Given the description of an element on the screen output the (x, y) to click on. 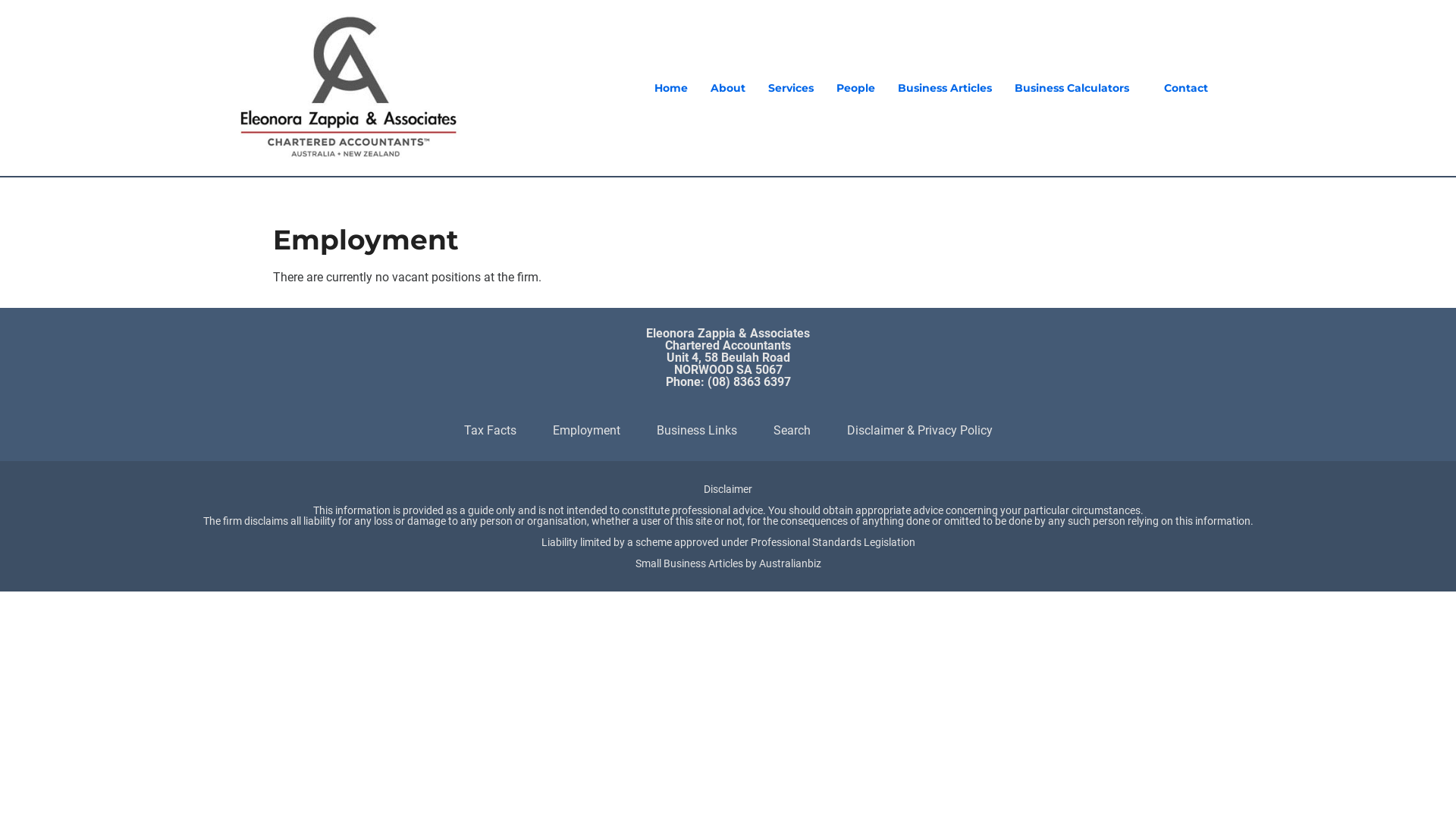
Small Business Articles by Australianbiz Element type: text (728, 563)
Home Element type: text (671, 87)
Search Element type: text (791, 430)
Tax Facts Element type: text (490, 430)
Services Element type: text (790, 87)
Employment Element type: text (585, 430)
Contact Element type: text (1185, 87)
Disclaimer & Privacy Policy Element type: text (918, 430)
People Element type: text (855, 87)
(08) 8363 6397 Element type: text (748, 381)
Business Calculators Element type: text (1071, 87)
About Element type: text (727, 87)
Business Links Element type: text (696, 430)
Business Articles Element type: text (944, 87)
